Given the description of an element on the screen output the (x, y) to click on. 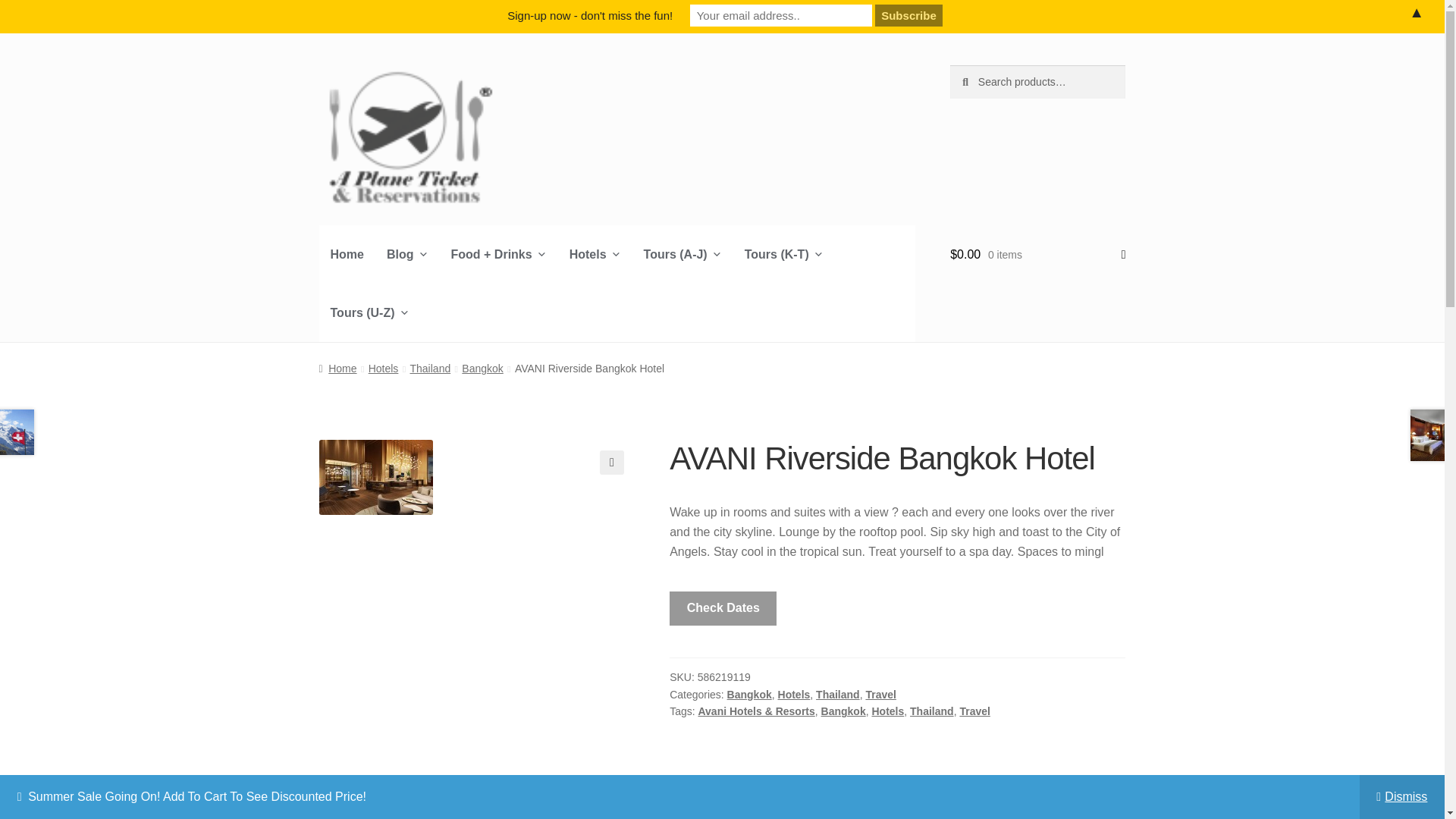
View your shopping cart (1037, 254)
Home (346, 254)
f295fb4f218934d2 (375, 477)
Subscribe (909, 15)
Blog (407, 254)
